Given the description of an element on the screen output the (x, y) to click on. 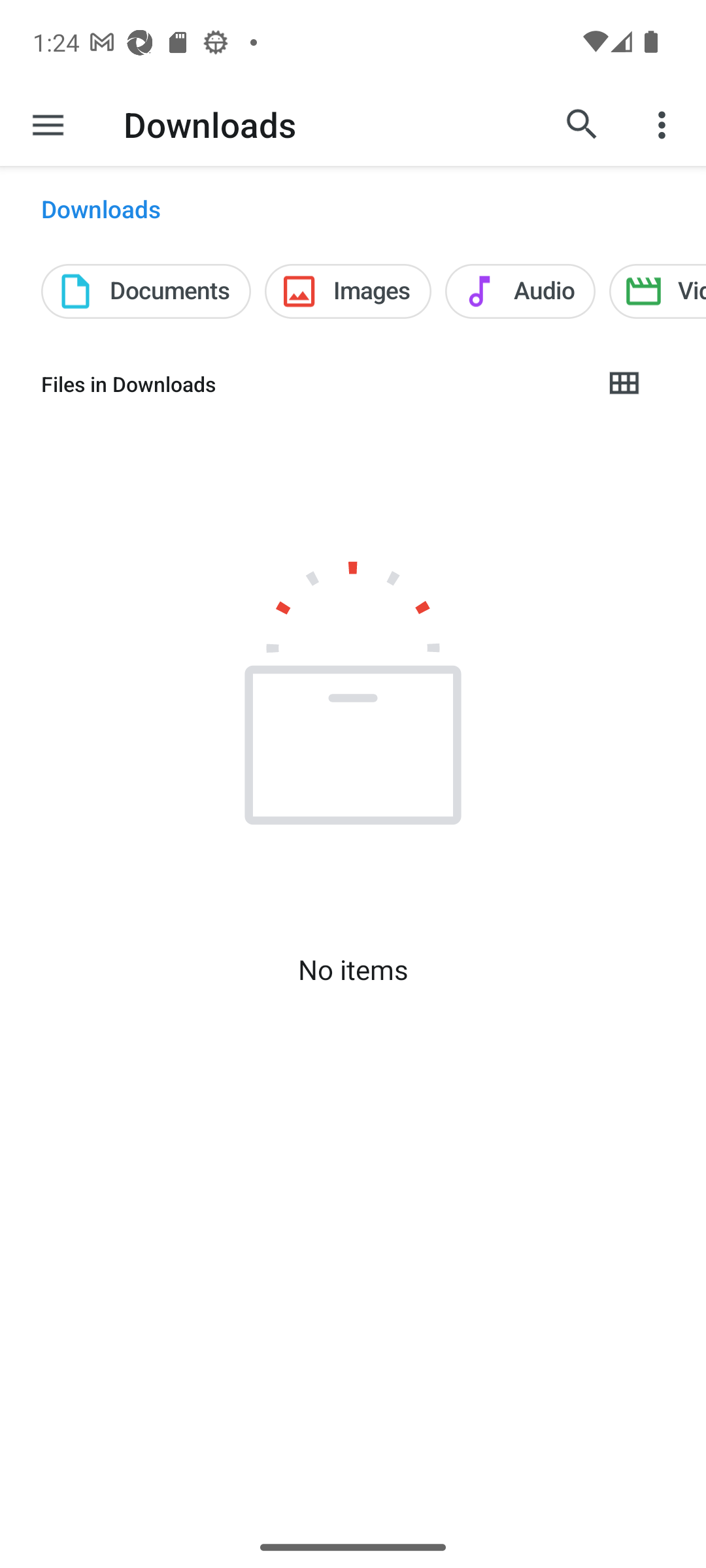
Show roots (48, 124)
Search (581, 124)
More options (664, 124)
Documents (145, 291)
Images (347, 291)
Audio (520, 291)
Videos (657, 291)
Grid view (623, 383)
